Given the description of an element on the screen output the (x, y) to click on. 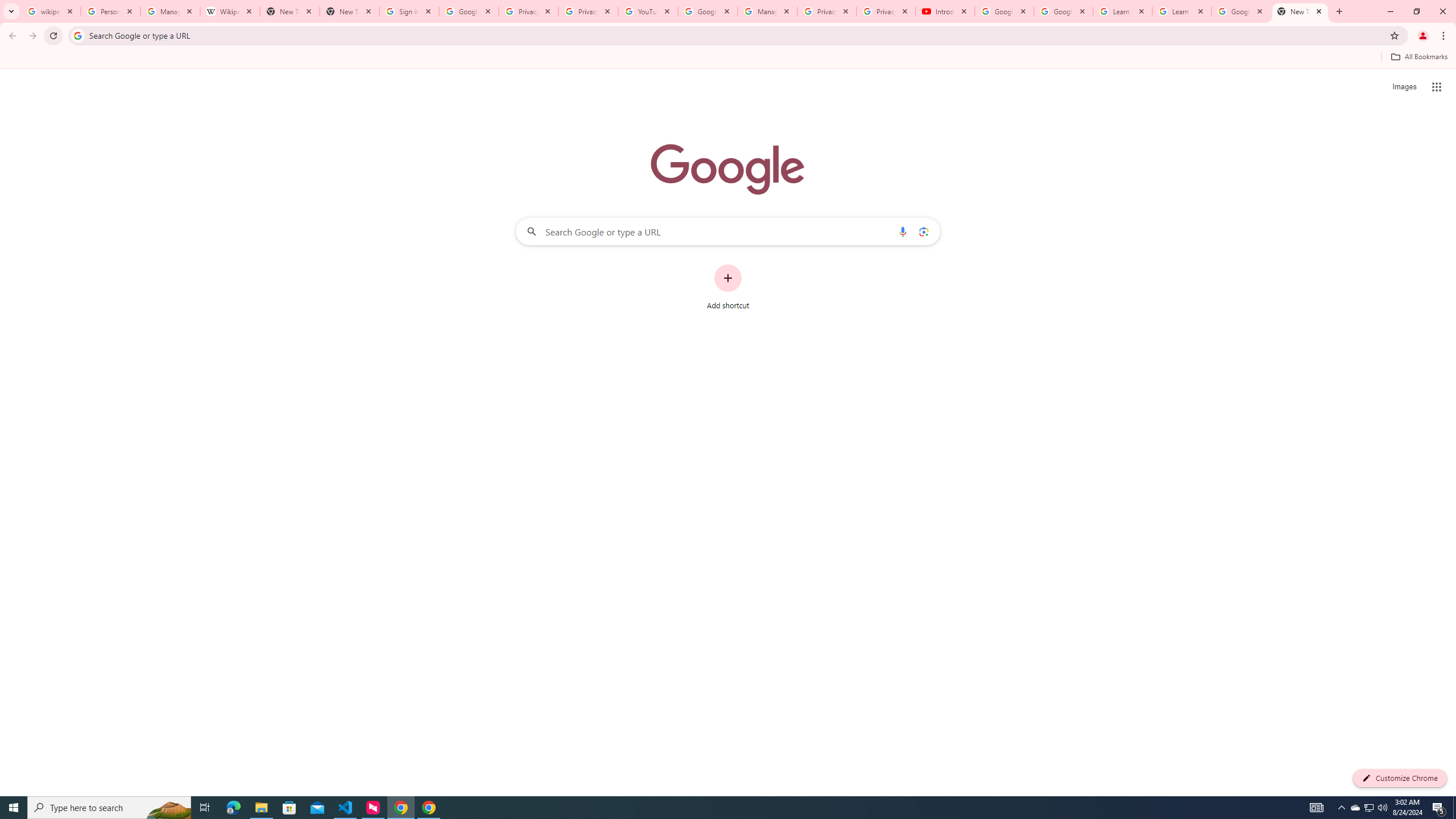
Sign in - Google Accounts (409, 11)
New Tab (349, 11)
Add shortcut (727, 287)
Google Drive: Sign-in (468, 11)
Customize Chrome (1399, 778)
